Given the description of an element on the screen output the (x, y) to click on. 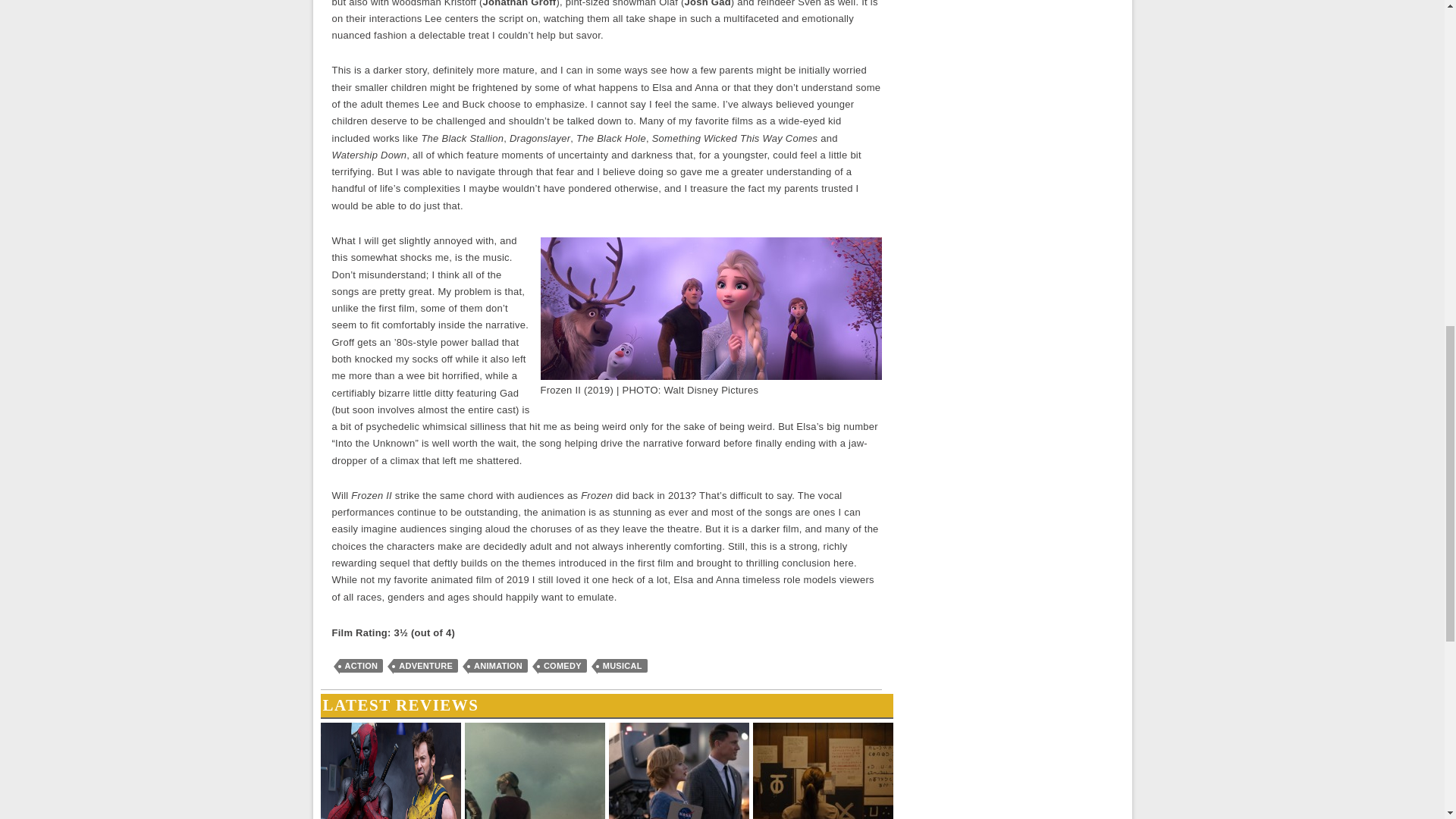
COMEDY (562, 665)
ADVENTURE (425, 665)
ACTION (361, 665)
MUSICAL (621, 665)
ANIMATION (497, 665)
